Given the description of an element on the screen output the (x, y) to click on. 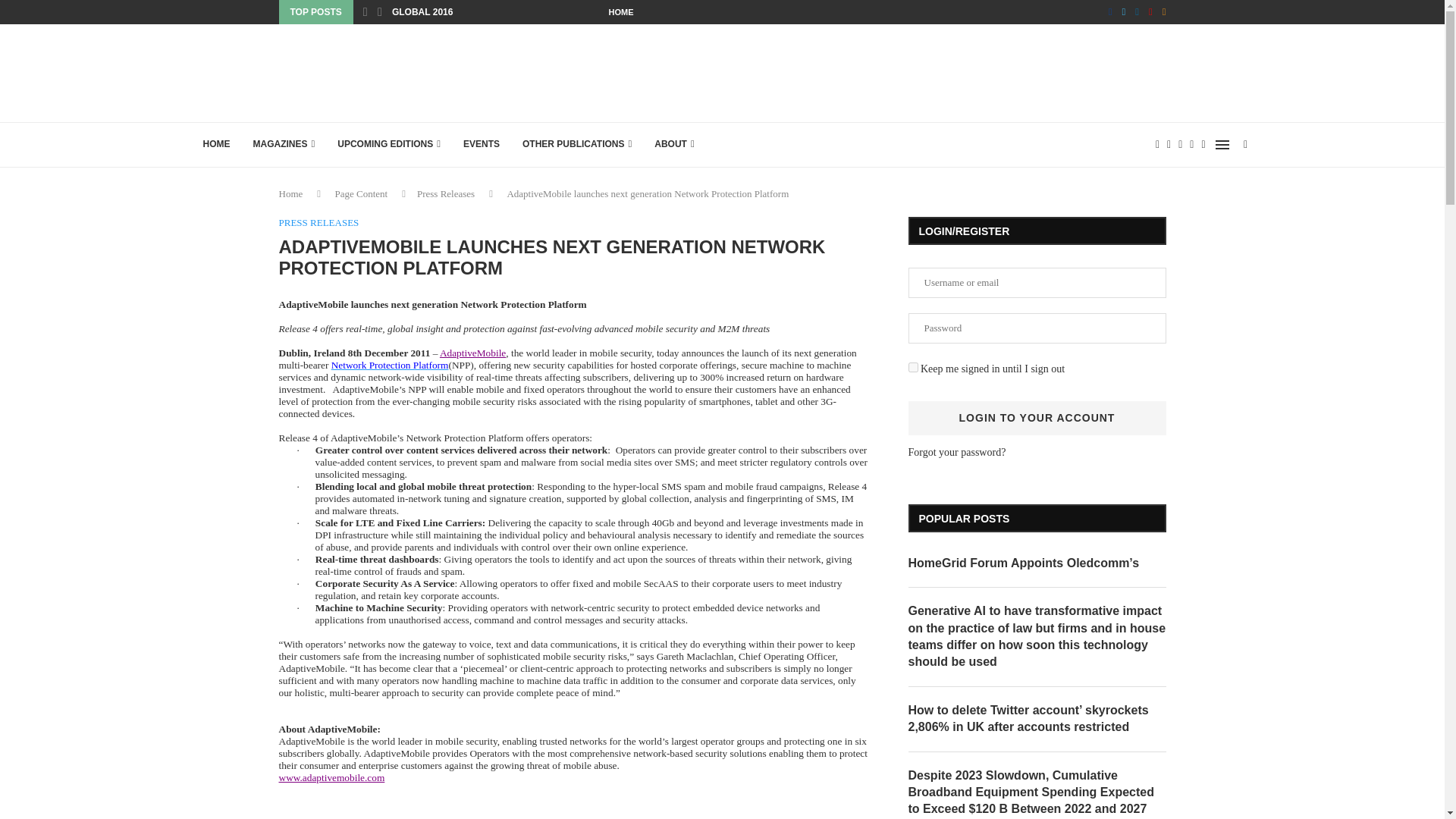
Login to your account (1037, 417)
HOME (620, 12)
MAGAZINES (283, 144)
forever (913, 367)
GLOBAL 2016 (421, 12)
HOME (215, 144)
